Given the description of an element on the screen output the (x, y) to click on. 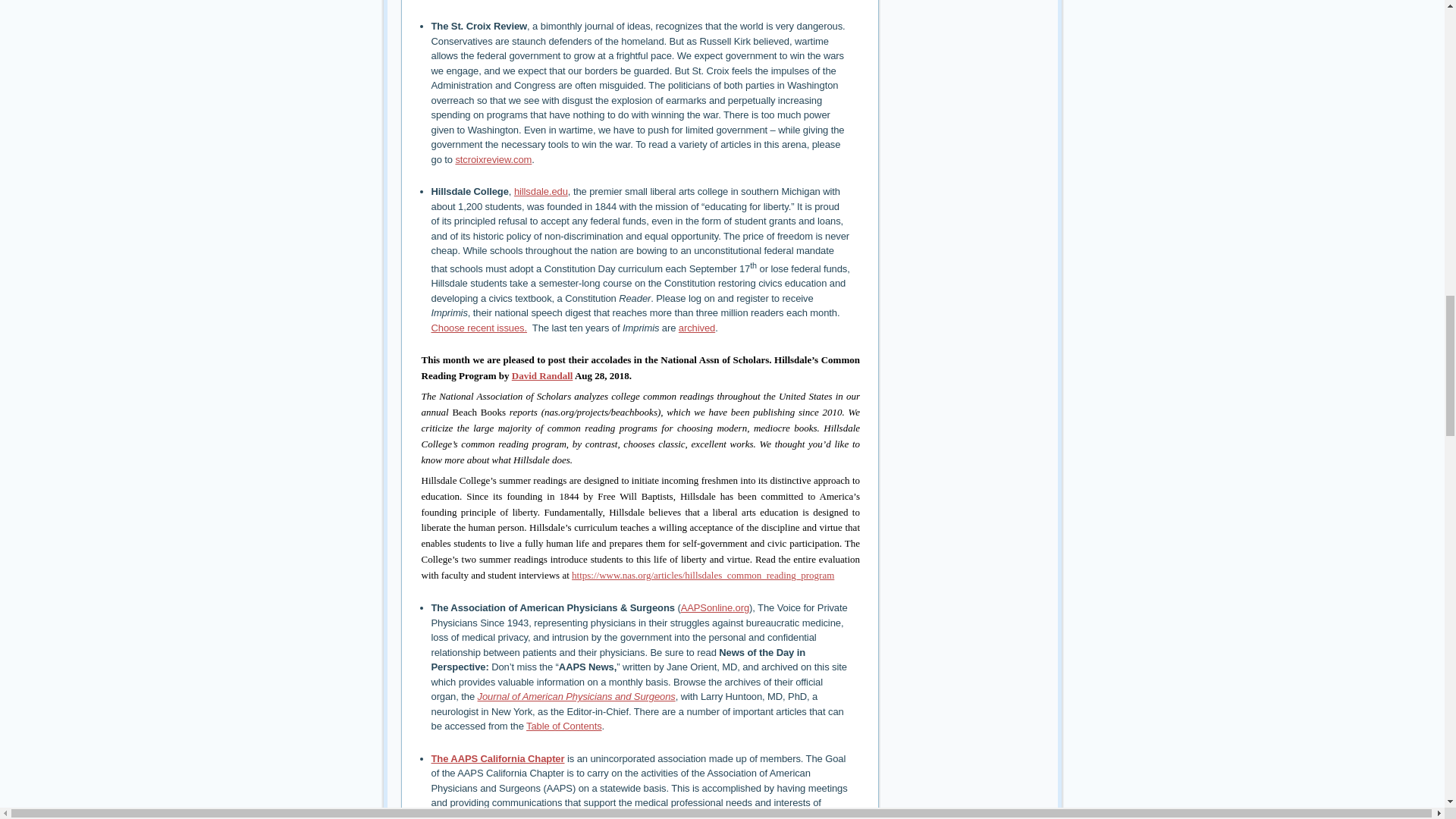
stcroixreview.com (492, 159)
archived (696, 327)
David Randall (542, 375)
hillsdale.edu (540, 191)
Choose recent issues. (478, 327)
